Given the description of an element on the screen output the (x, y) to click on. 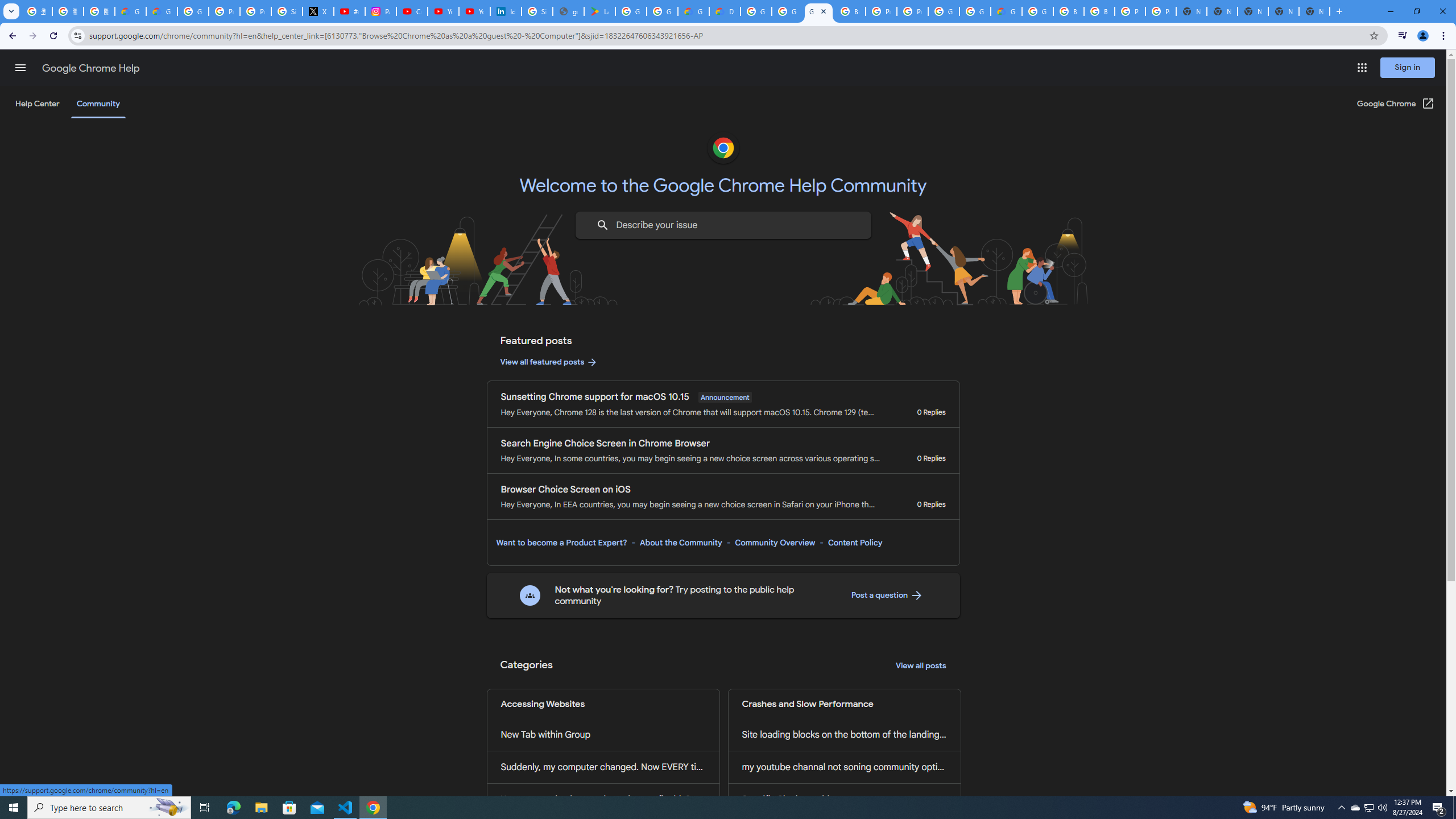
Bookmark this tab (1373, 35)
Government | Google Cloud (693, 11)
Restore (1416, 11)
System (6, 6)
Privacy Help Center - Policies Help (255, 11)
Community (97, 103)
Google Chrome Community (818, 11)
Browse Chrome as a guest - Computer - Google Chrome Help (1068, 11)
